Given the description of an element on the screen output the (x, y) to click on. 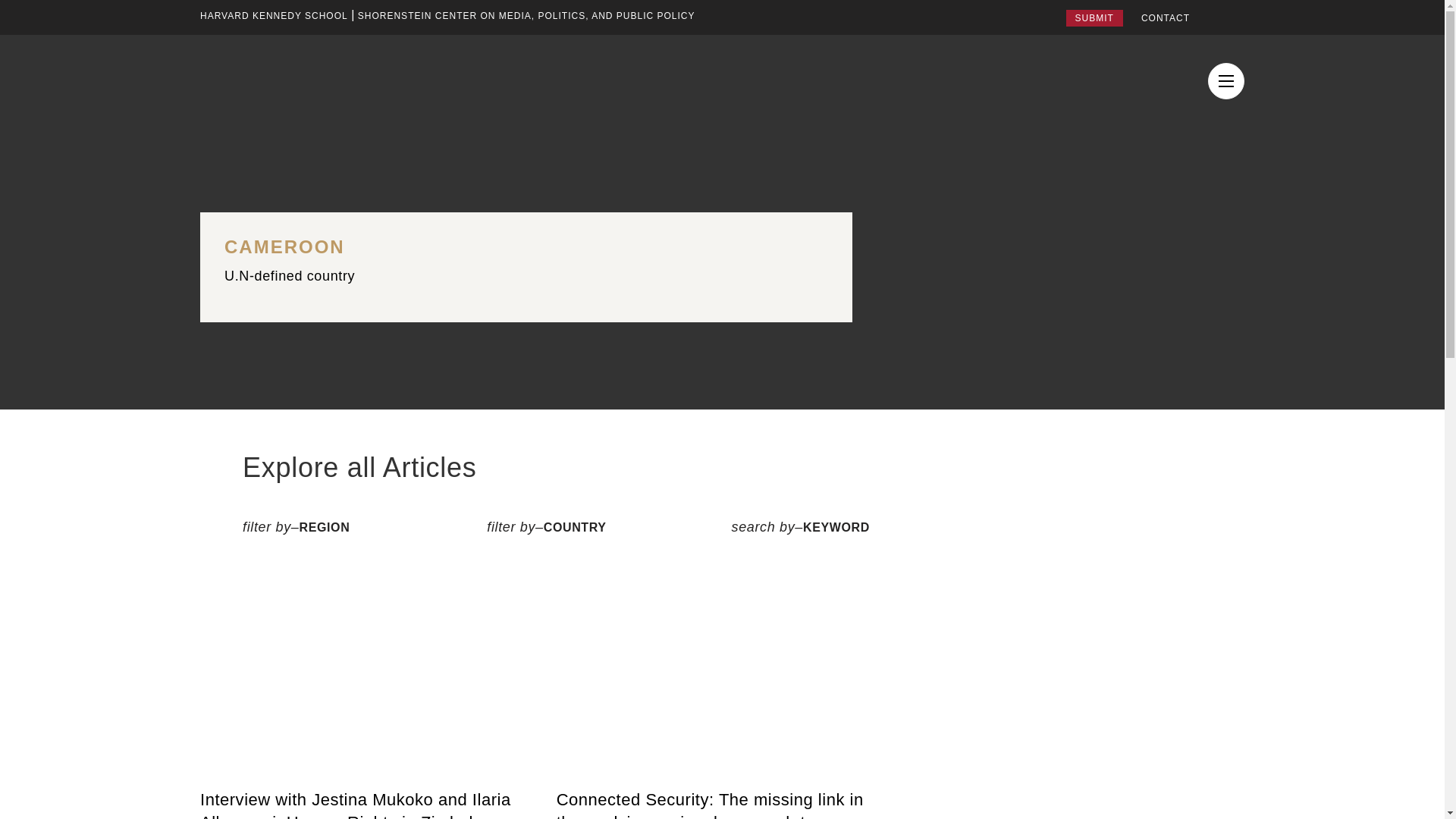
CONTACT (1165, 18)
Harvard Kennedy School (273, 15)
HKS Student Policy Review (338, 80)
Shorenstein Center on Media, Politics, and Public Policy (526, 15)
SHORENSTEIN CENTER ON MEDIA, POLITICS, AND PUBLIC POLICY (526, 15)
SUBMIT (1093, 17)
HARVARD KENNEDY SCHOOL (273, 15)
